Given the description of an element on the screen output the (x, y) to click on. 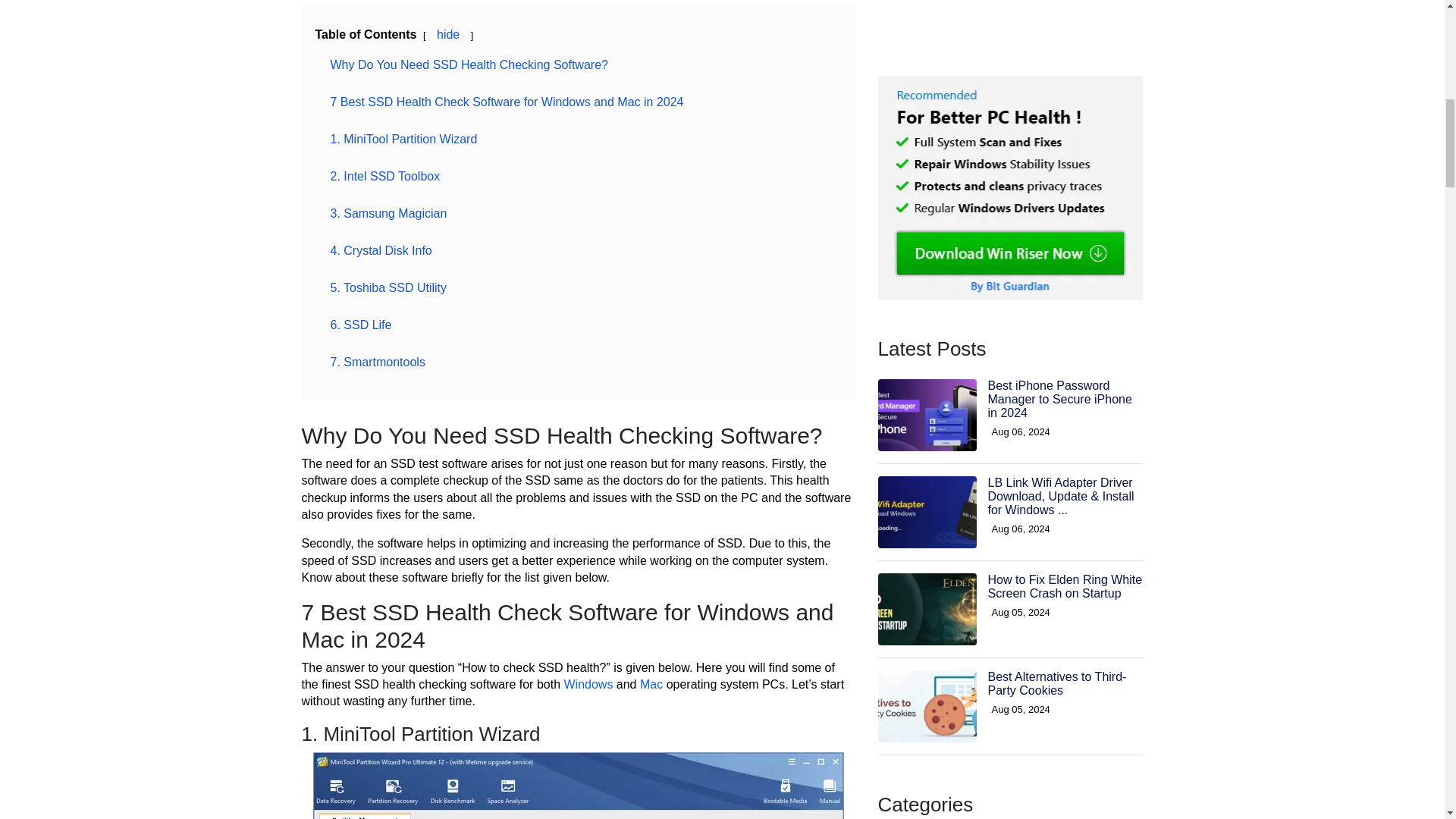
7 Best SSD Health Check Software for Windows and Mac in 2024 (507, 101)
hide (448, 34)
1. MiniTool Partition Wizard (403, 139)
2. Intel SSD Toolbox (385, 176)
6. SSD Life (360, 325)
3. Samsung Magician (388, 213)
5. Toshiba SSD Utility (388, 287)
Mac (651, 684)
Why Do You Need SSD Health Checking Software? (469, 64)
Windows (587, 684)
7. Smartmontools (377, 361)
4. Crystal Disk Info (381, 250)
